Given the description of an element on the screen output the (x, y) to click on. 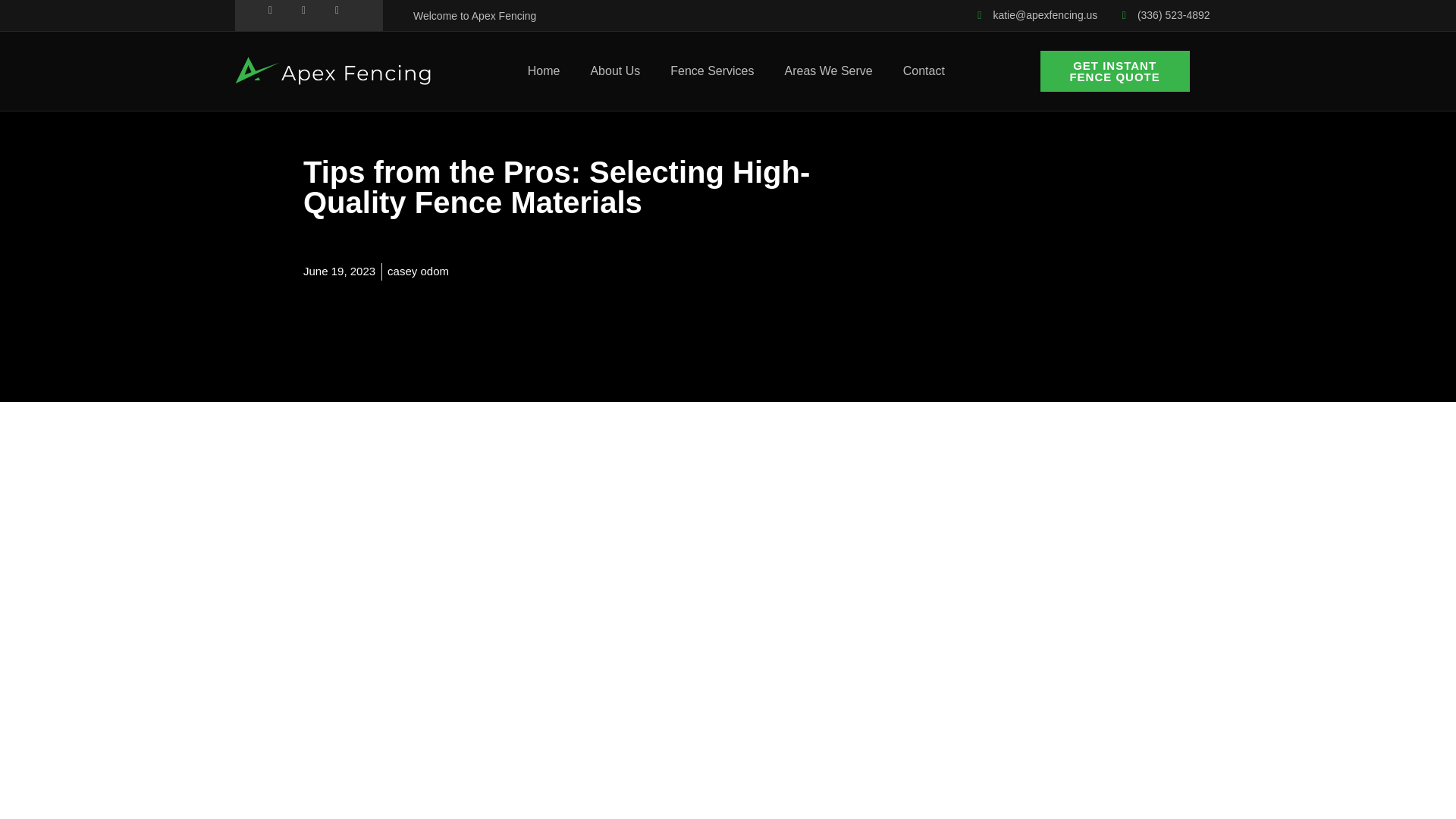
Fence Services (711, 71)
Home (543, 71)
Areas We Serve (829, 71)
About Us (615, 71)
